Given the description of an element on the screen output the (x, y) to click on. 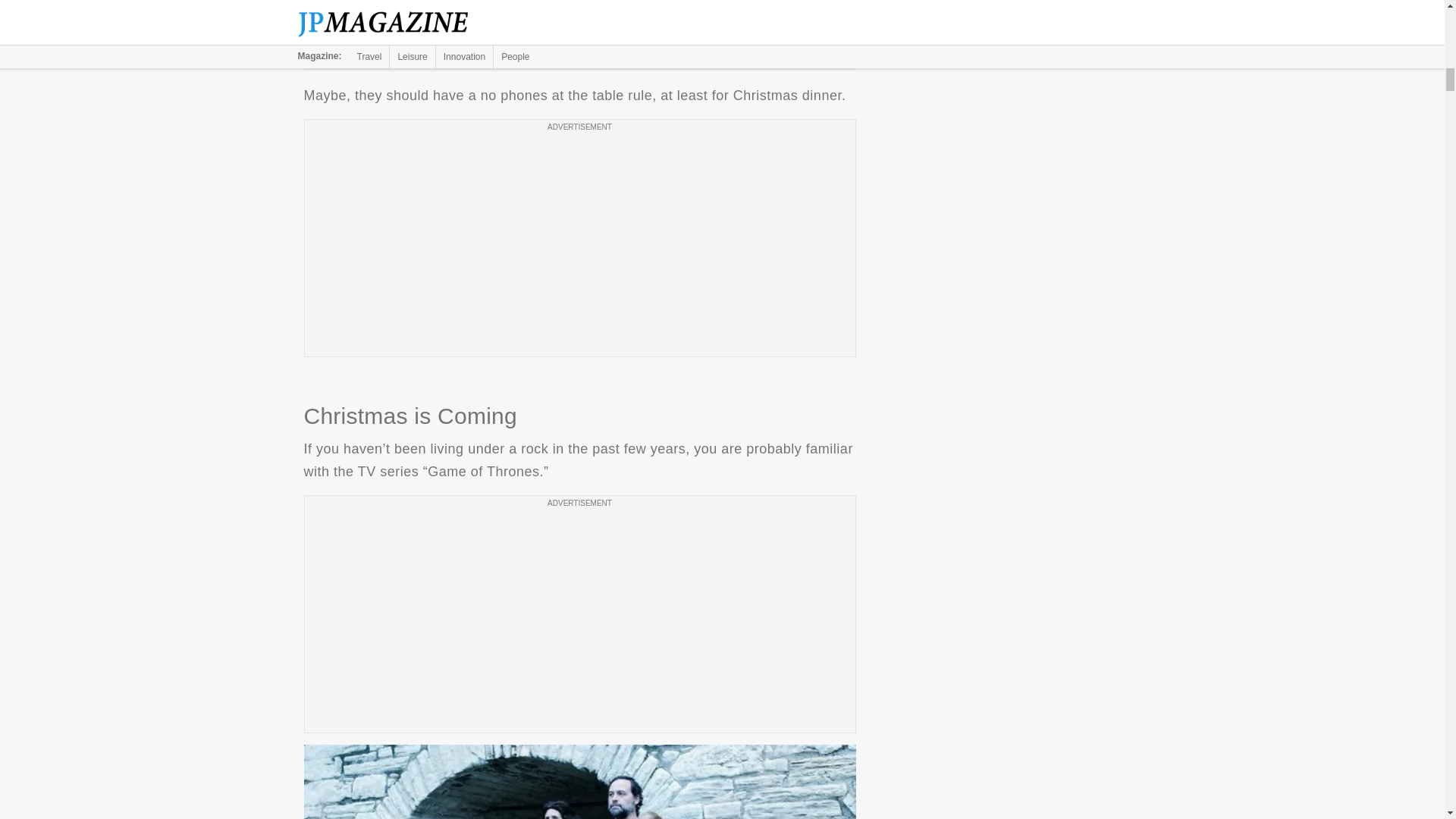
A Christmas Card for the Digital Age (579, 28)
Christmas is Coming (579, 781)
